Given the description of an element on the screen output the (x, y) to click on. 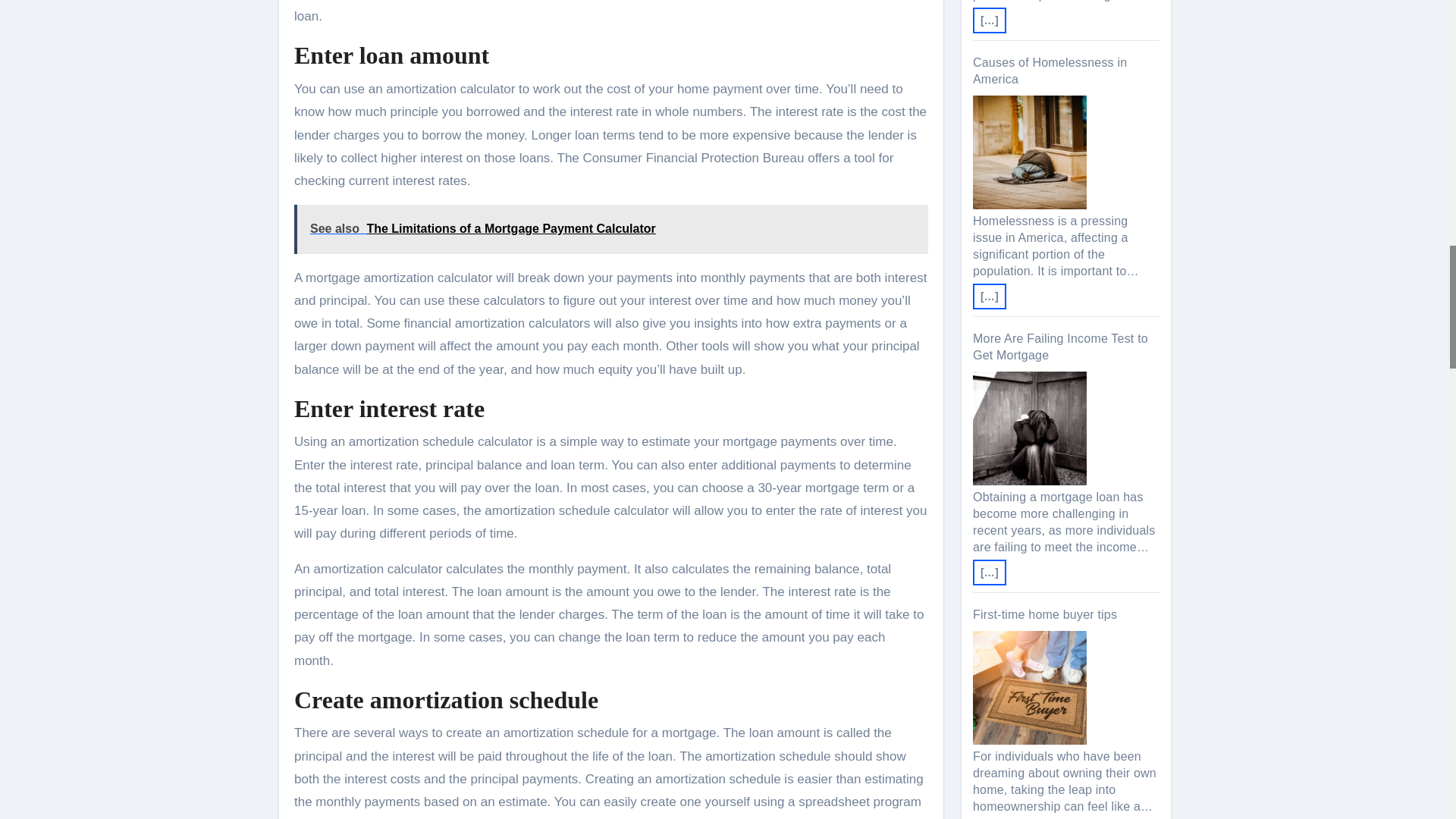
See also  The Limitations of a Mortgage Payment Calculator (611, 228)
